Given the description of an element on the screen output the (x, y) to click on. 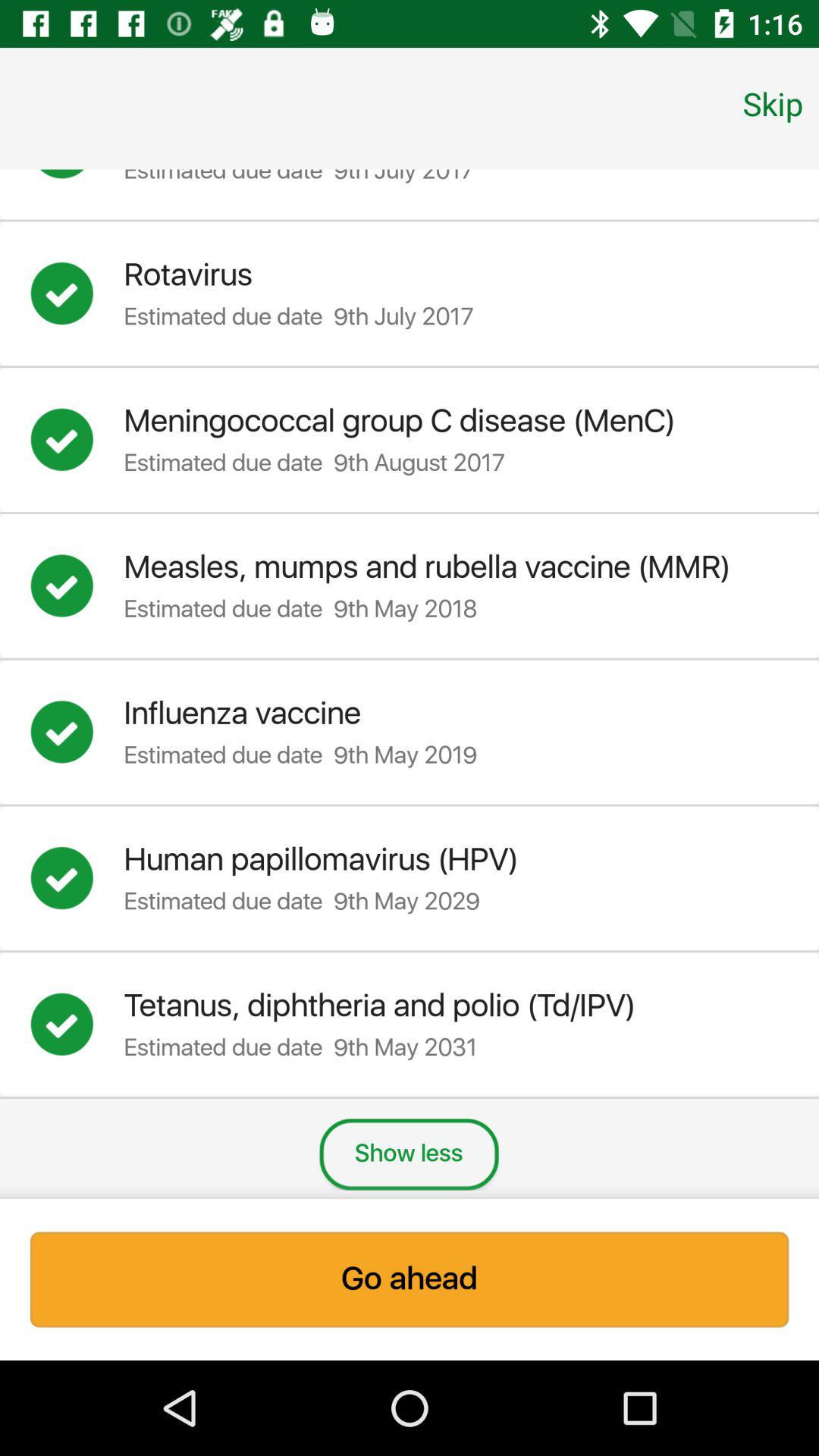
verify item (76, 732)
